Given the description of an element on the screen output the (x, y) to click on. 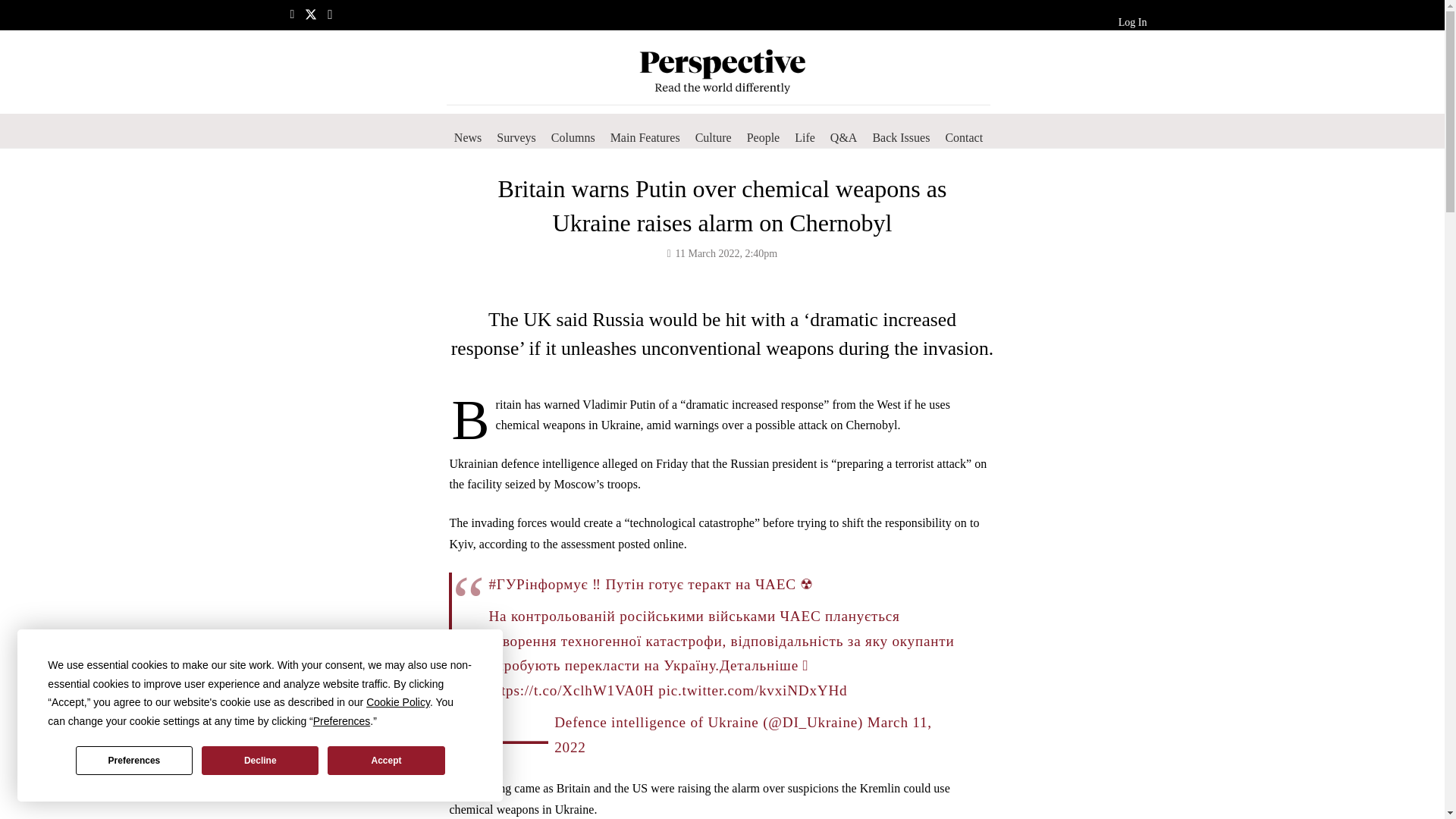
Instagram (329, 15)
Culture (713, 137)
Log In (1132, 21)
Columns (572, 137)
Preferences (133, 759)
Surveys (516, 137)
Facebook (291, 14)
March 11, 2022 (742, 734)
News (467, 137)
Main Features (644, 137)
Twitter (310, 14)
Contact (963, 137)
Accept (385, 759)
Back Issues (900, 137)
People (763, 137)
